Given the description of an element on the screen output the (x, y) to click on. 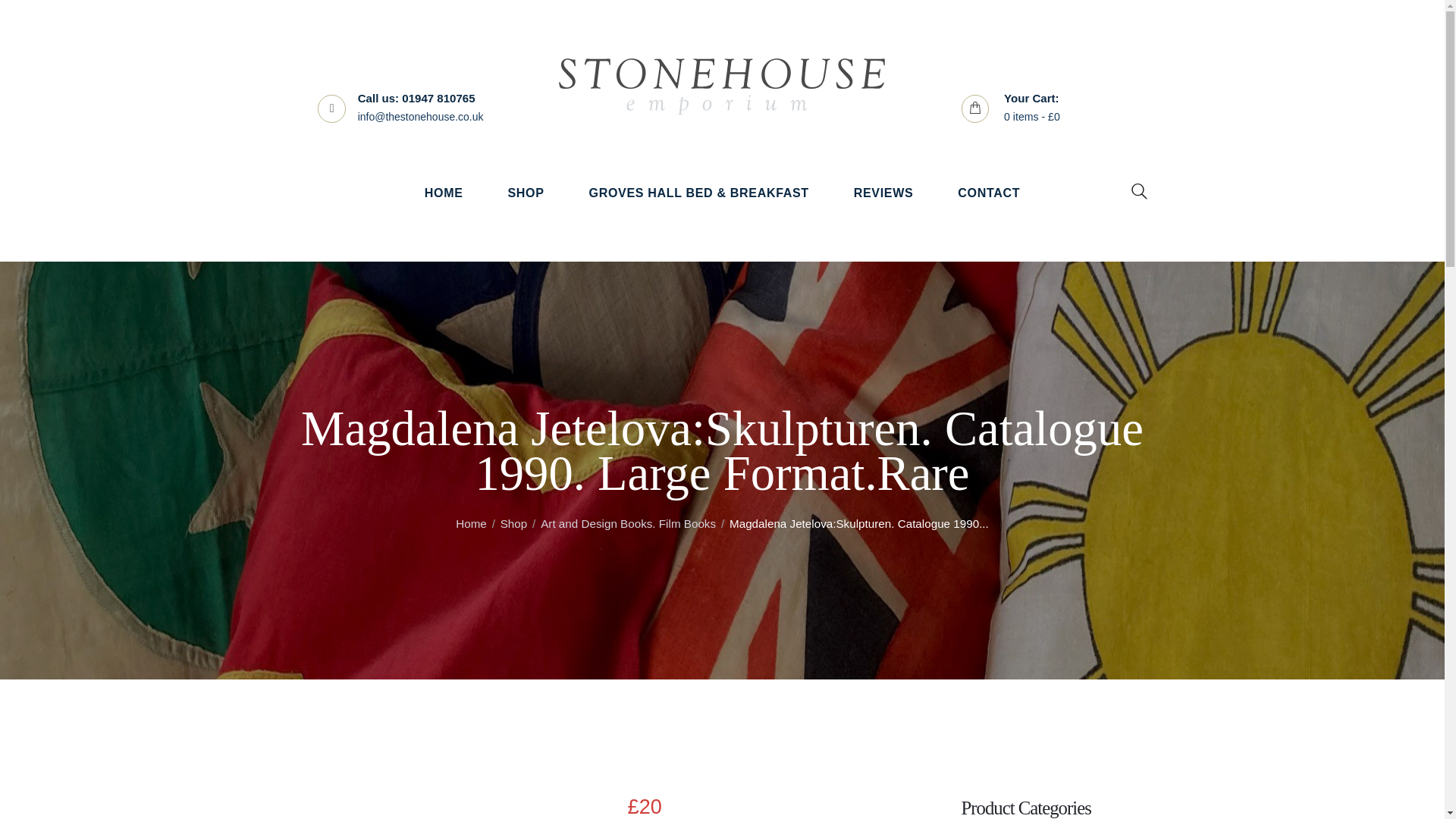
REVIEWS (883, 193)
Shop (513, 522)
HOME (442, 193)
SHOP (525, 193)
CONTACT (989, 193)
Art and Design Books. Film Books (628, 523)
Home (470, 523)
